Given the description of an element on the screen output the (x, y) to click on. 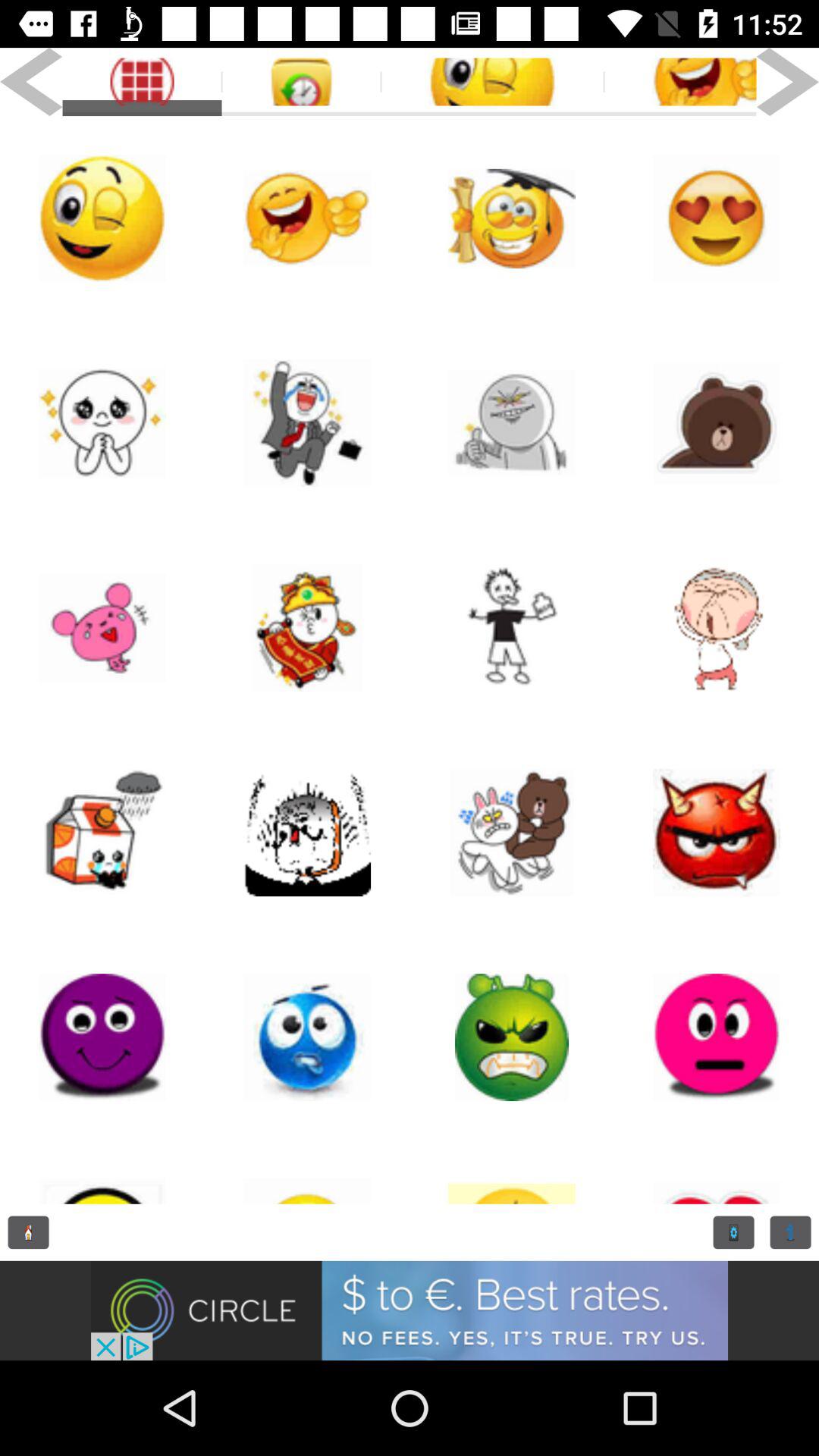
advertiser banner (409, 1310)
